Given the description of an element on the screen output the (x, y) to click on. 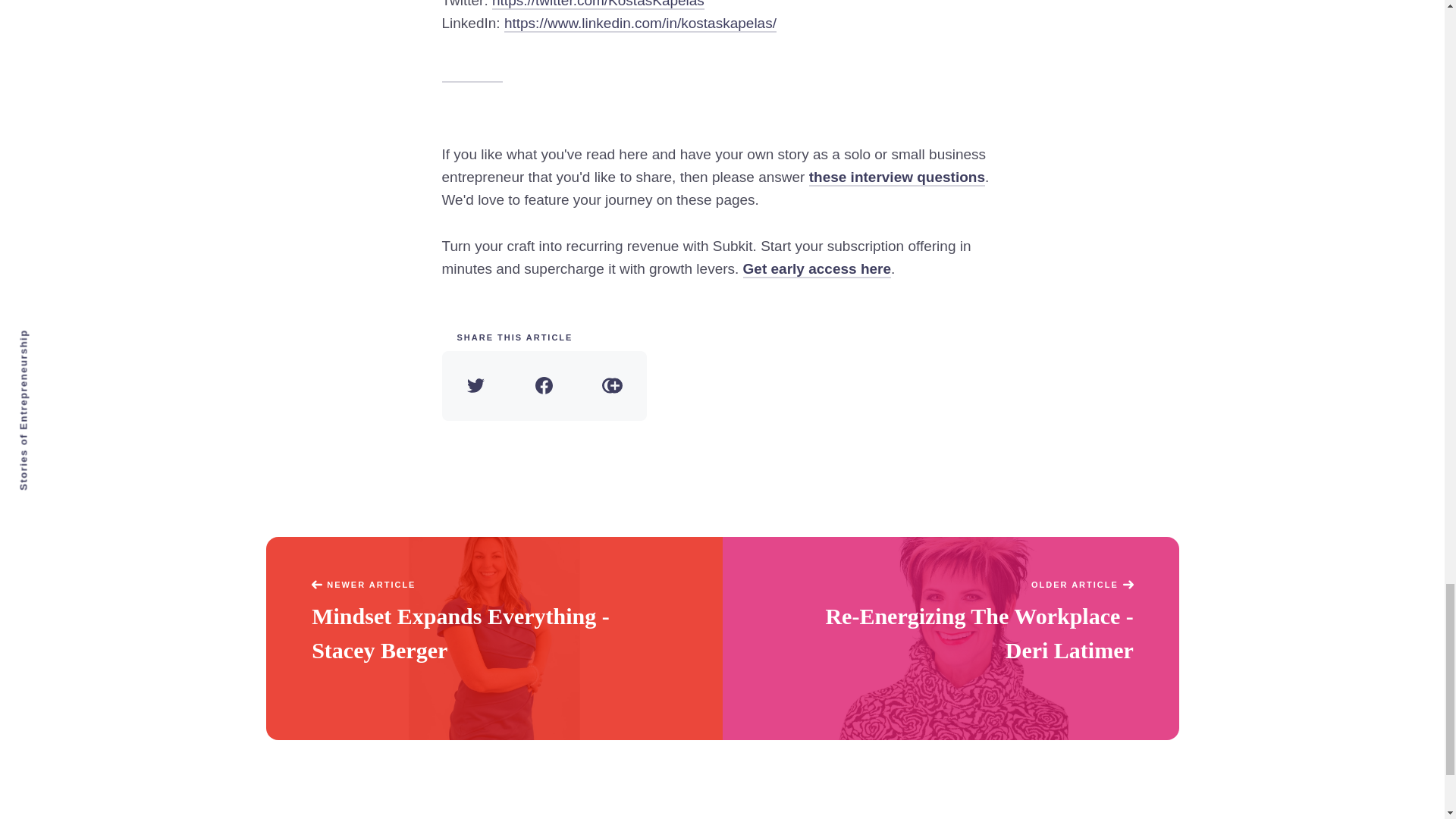
Get early access here (816, 269)
these interview questions (897, 177)
